Given the description of an element on the screen output the (x, y) to click on. 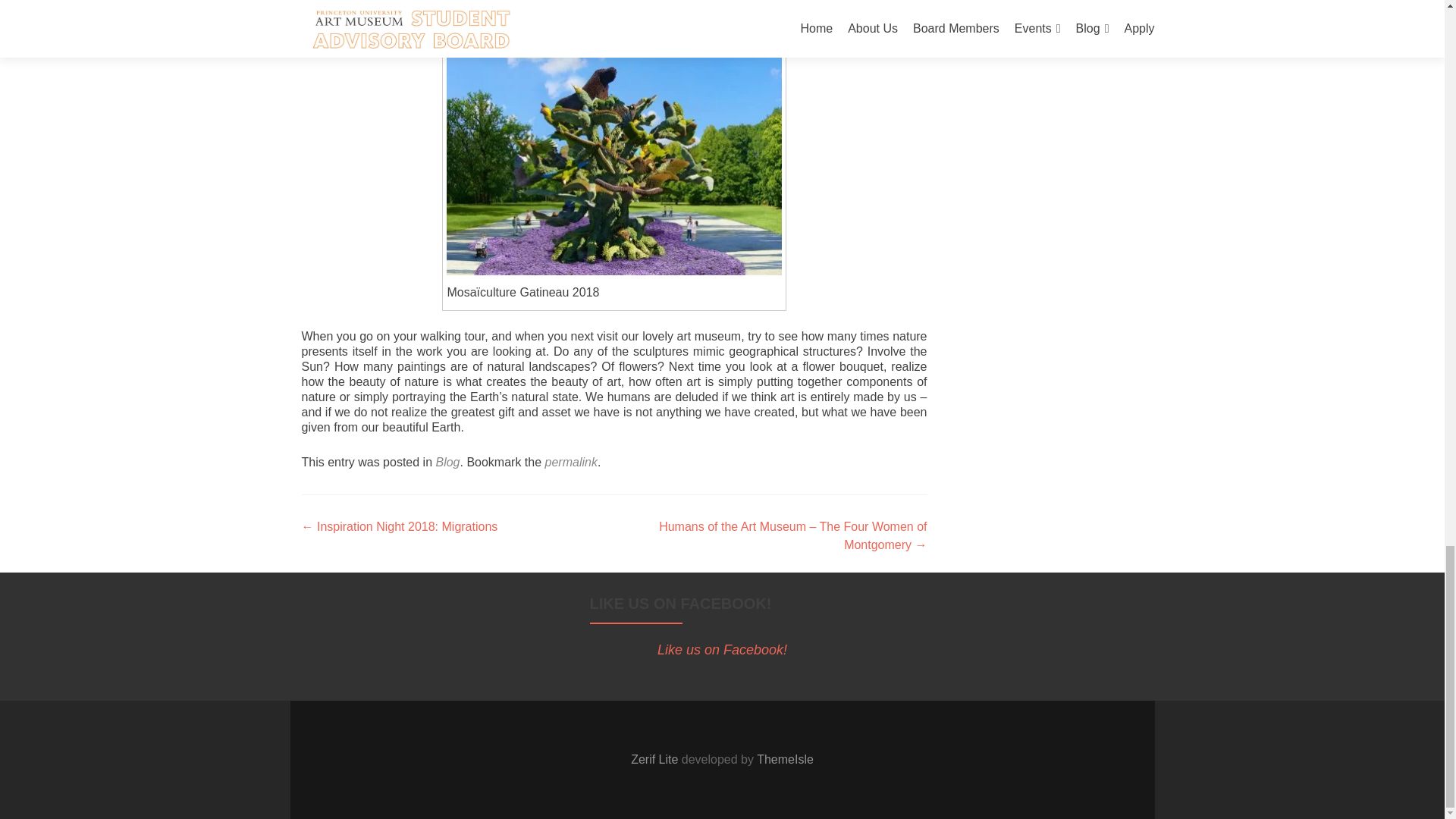
LIKE US ON FACEBOOK! (680, 603)
permalink (570, 461)
Like us on Facebook! (722, 649)
Blog (447, 461)
